Given the description of an element on the screen output the (x, y) to click on. 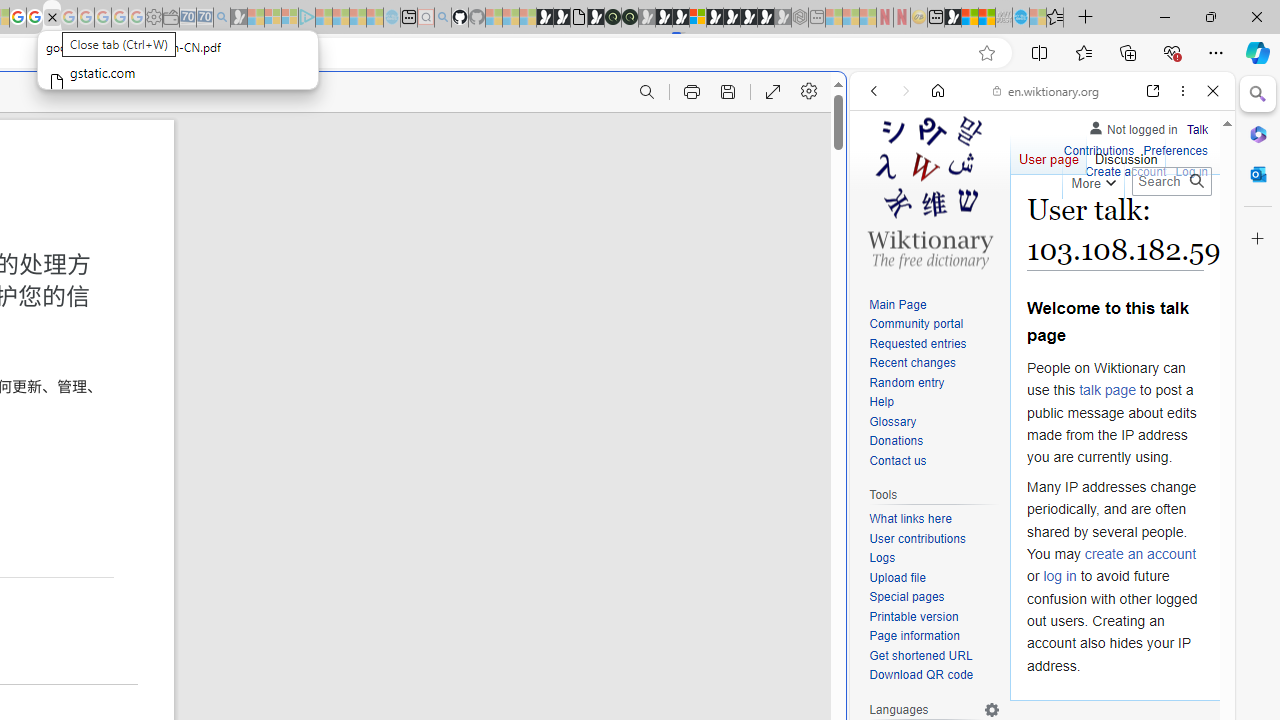
Cheap Car Rentals - Save70.com - Sleeping (204, 17)
log in (1059, 576)
Printable version (934, 616)
Help (881, 402)
Web scope (882, 180)
Home | Sky Blue Bikes - Sky Blue Bikes - Sleeping (392, 17)
Microsoft 365 (1258, 133)
Random entry (934, 382)
Logs (934, 558)
Play Cave FRVR in your browser | Games from Microsoft Start (663, 17)
World - MSN (969, 17)
Community portal (916, 323)
